Given the description of an element on the screen output the (x, y) to click on. 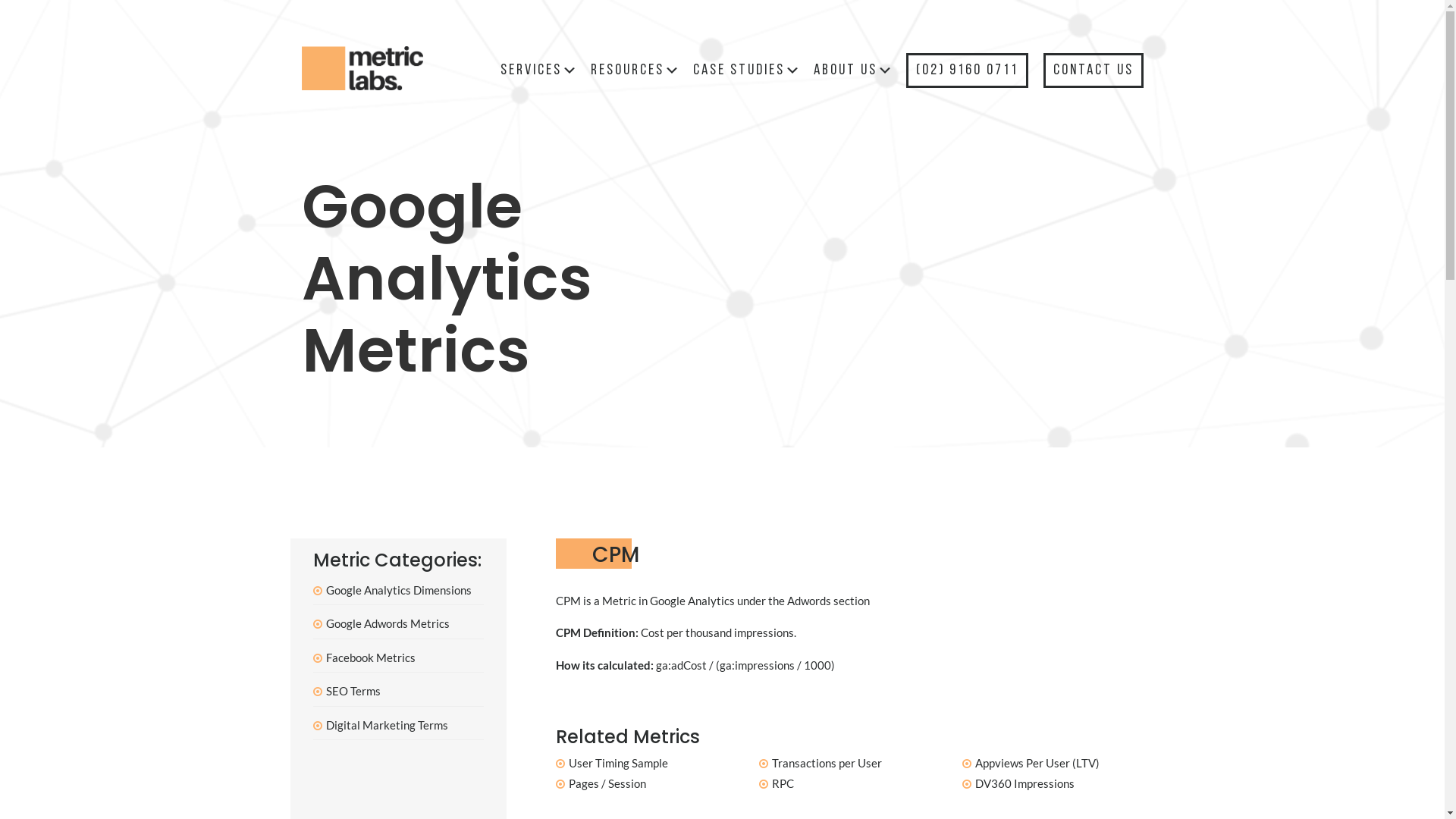
User Timing Sample Element type: text (618, 762)
Transactions per User Element type: text (826, 762)
Contact Us Element type: text (1092, 70)
DV360 Impressions Element type: text (1024, 783)
SEO Terms Element type: text (353, 690)
(02) 9160 0711 Element type: text (967, 70)
Facebook Metrics Element type: text (370, 657)
Appviews Per User (LTV) Element type: text (1037, 762)
Pages / Session Element type: text (607, 783)
About Us Element type: text (853, 70)
Resources Element type: text (634, 70)
RPC Element type: text (782, 783)
Digital Marketing Terms Element type: text (387, 724)
Case Studies Element type: text (747, 70)
Google Adwords Metrics Element type: text (387, 623)
Google Analytics Dimensions Element type: text (398, 589)
Services Element type: text (539, 70)
